Given the description of an element on the screen output the (x, y) to click on. 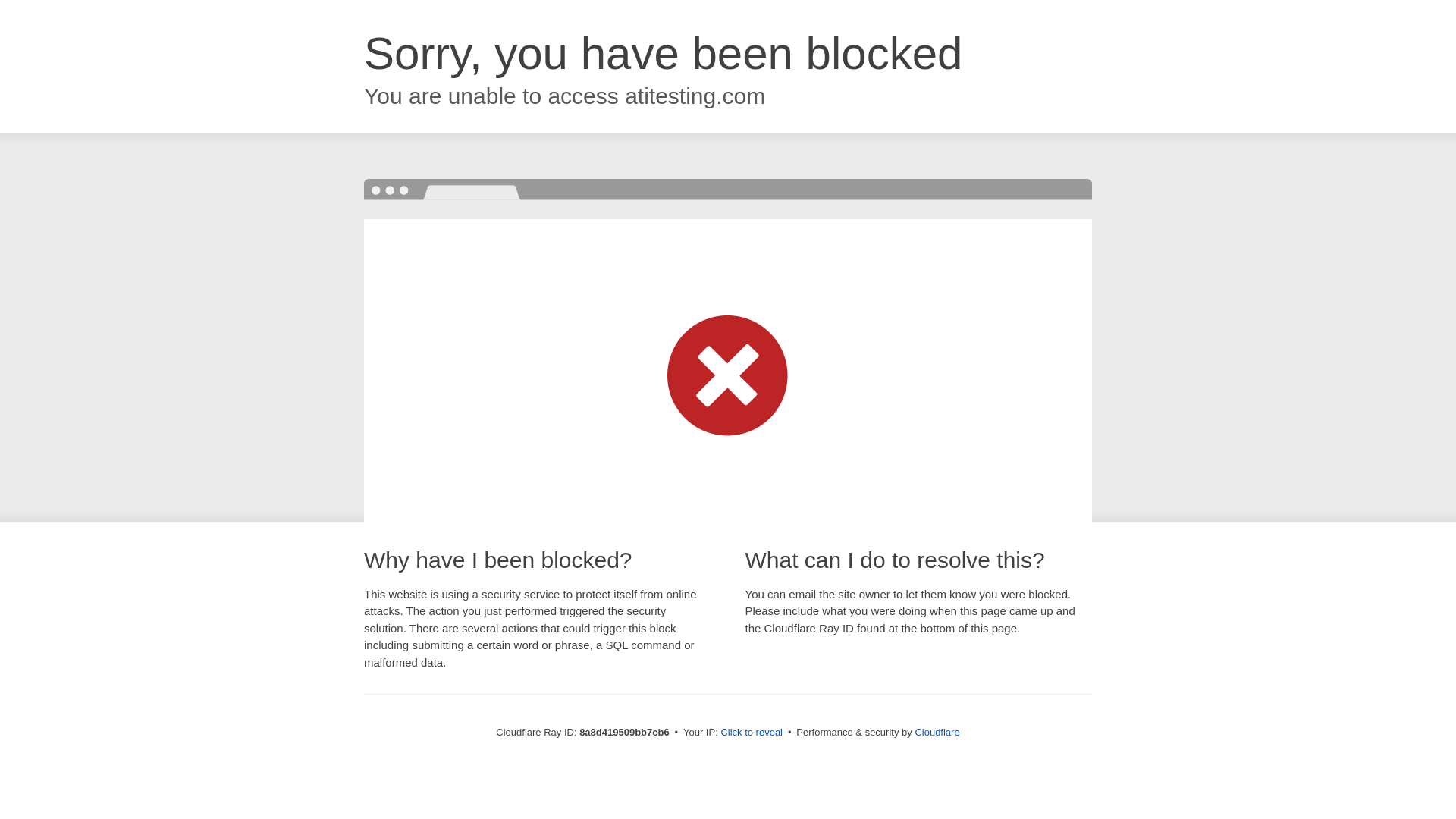
Cloudflare (936, 731)
Click to reveal (751, 732)
